Given the description of an element on the screen output the (x, y) to click on. 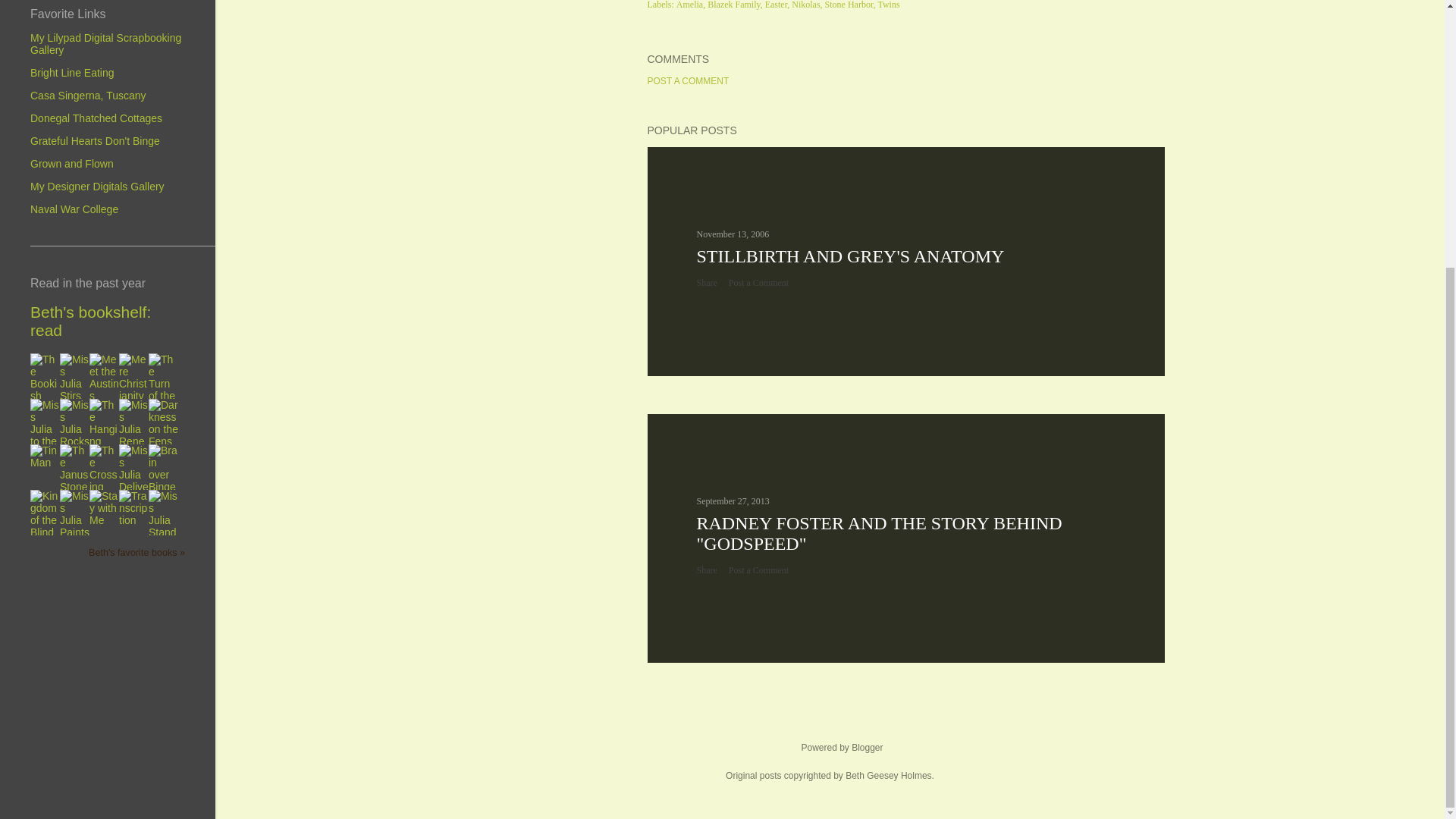
POST A COMMENT (688, 81)
Stone Harbor (850, 5)
STILLBIRTH AND GREY'S ANATOMY (849, 256)
Twins (888, 5)
Share (705, 570)
RADNEY FOSTER AND THE STORY BEHIND "GODSPEED" (878, 533)
Amelia (690, 5)
Blazek Family (734, 5)
November 13, 2006 (731, 234)
permanent link (731, 234)
Post a Comment (759, 570)
Easter (777, 5)
Post a Comment (759, 282)
September 27, 2013 (731, 501)
Nikolas (807, 5)
